Given the description of an element on the screen output the (x, y) to click on. 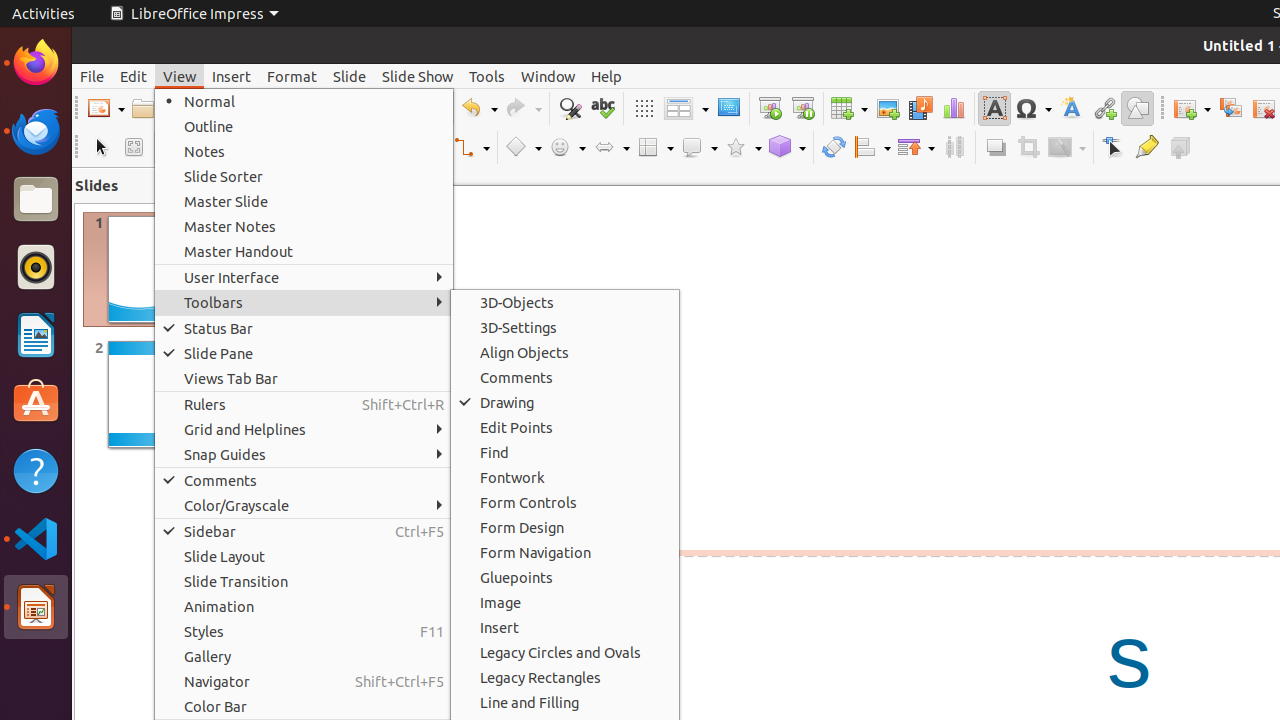
Thunderbird Mail Element type: push-button (36, 131)
Slide Show Element type: menu (417, 76)
Zoom & Pan Element type: push-button (133, 147)
Color/Grayscale Element type: menu (304, 505)
Slide Layout Element type: menu-item (304, 556)
